Given the description of an element on the screen output the (x, y) to click on. 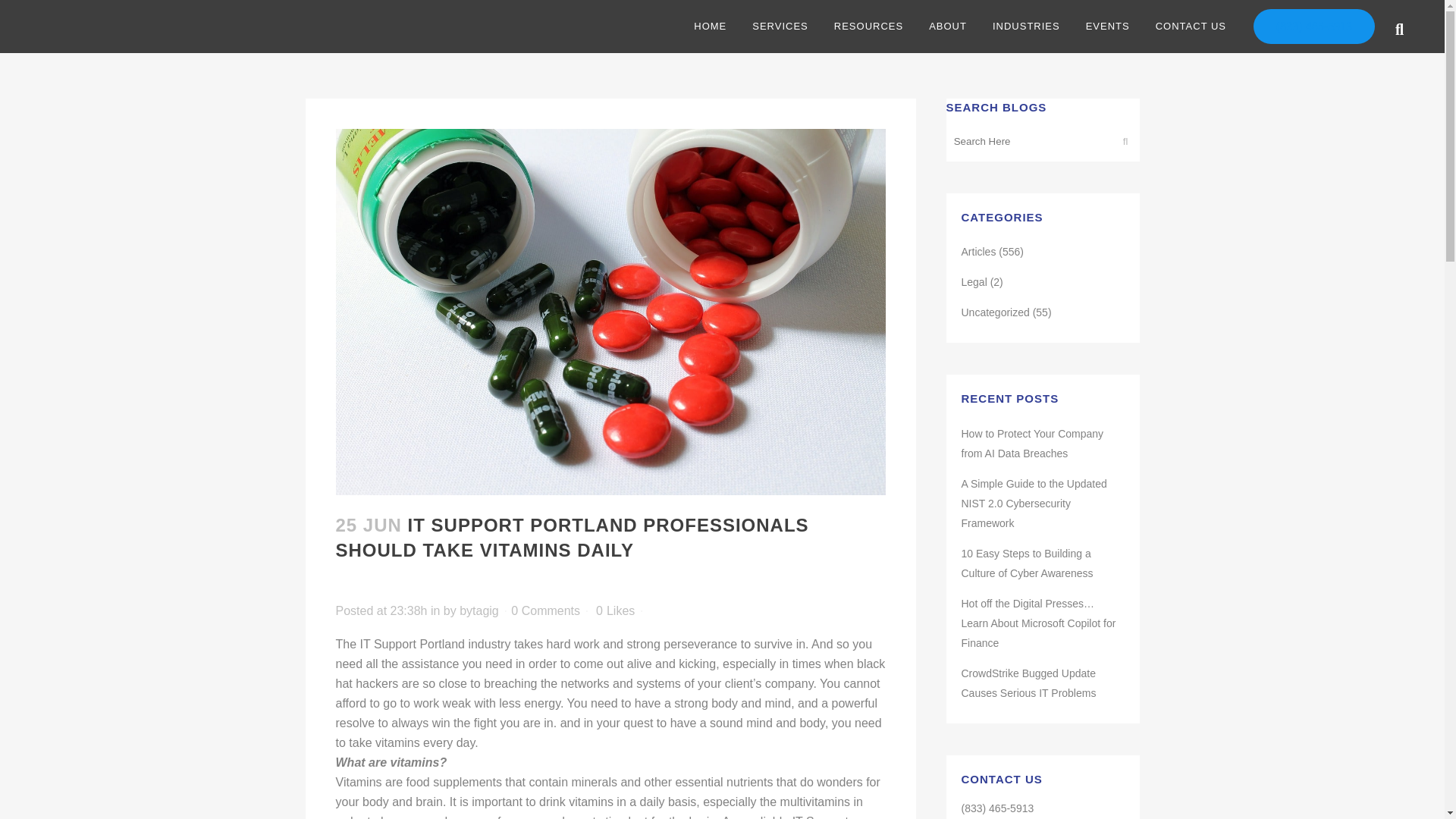
ABOUT (947, 26)
EVENTS (1107, 26)
CONTACT US (1190, 26)
Like this (614, 611)
INDUSTRIES (1026, 26)
HOME (710, 26)
RESOURCES (868, 26)
SERVICES (780, 26)
